Given the description of an element on the screen output the (x, y) to click on. 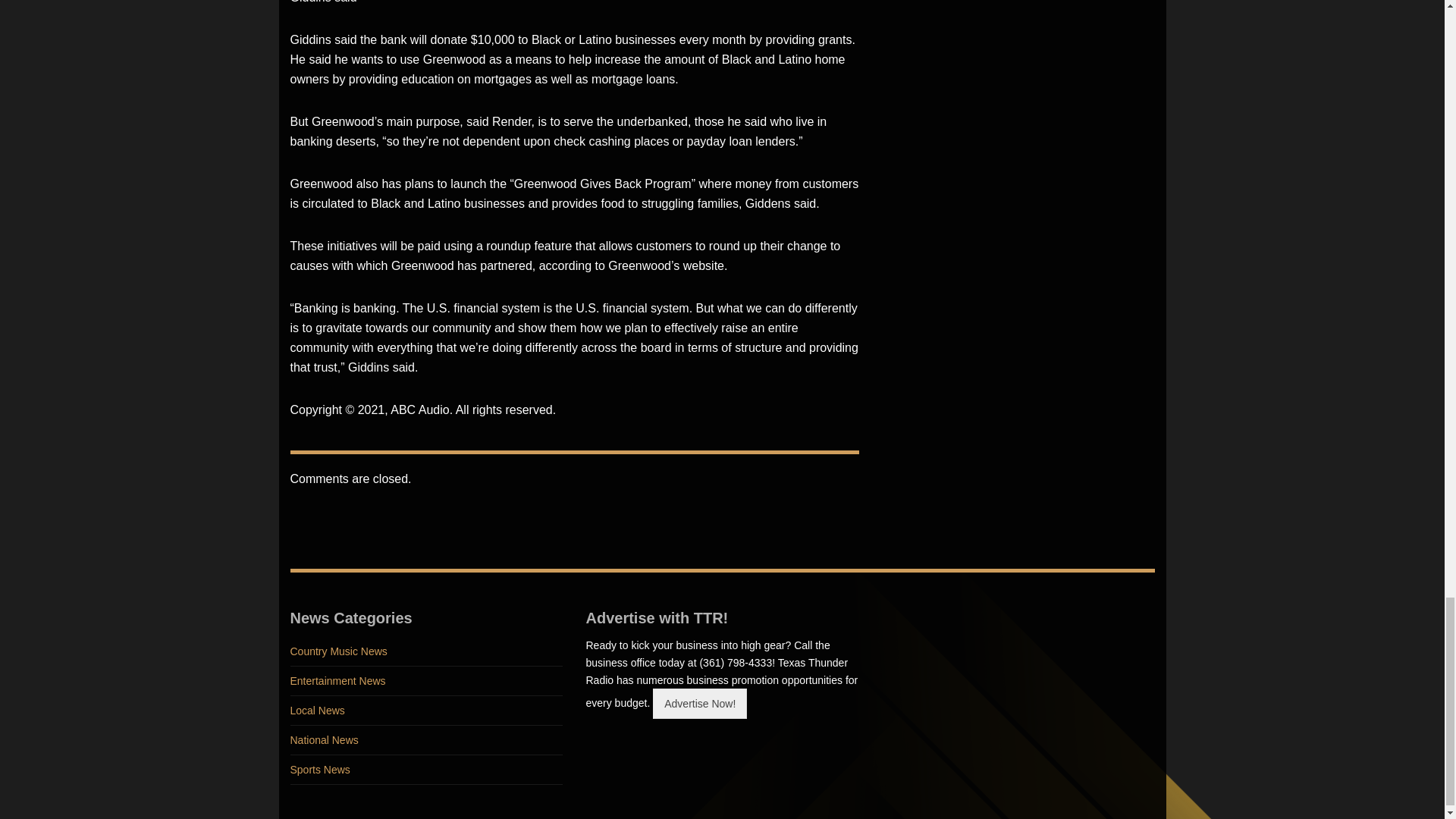
Local News (425, 710)
Country Music News (425, 651)
Entertainment News (425, 681)
Sports News (425, 769)
National News (425, 740)
